Given the description of an element on the screen output the (x, y) to click on. 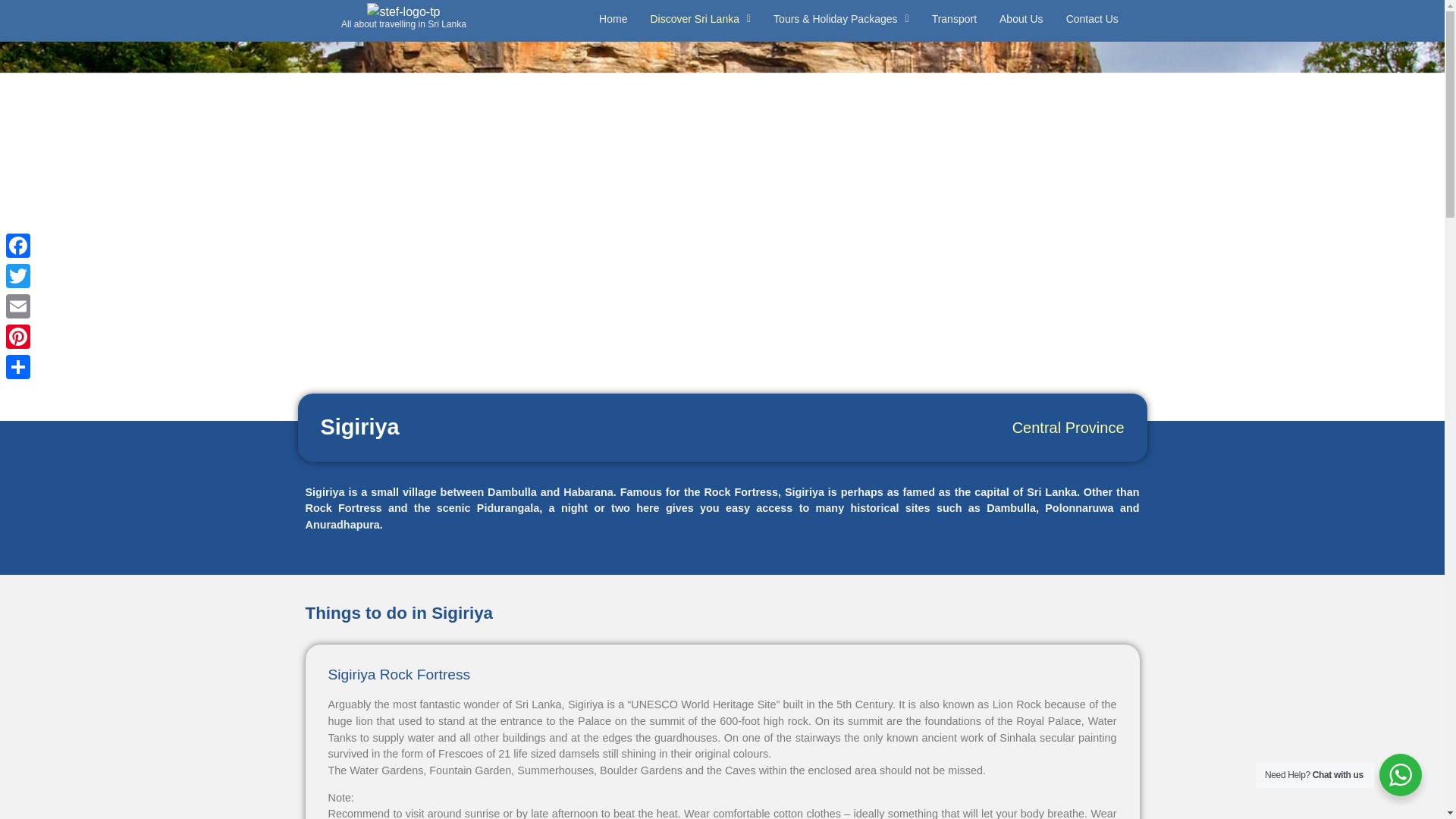
Discover Sri Lanka (700, 19)
Home (613, 19)
stef-logo-tp (402, 12)
Twitter (17, 276)
Email (17, 306)
Contact Us (1091, 19)
Transport (954, 19)
Facebook (17, 245)
About Us (1021, 19)
Pinterest (17, 336)
